Given the description of an element on the screen output the (x, y) to click on. 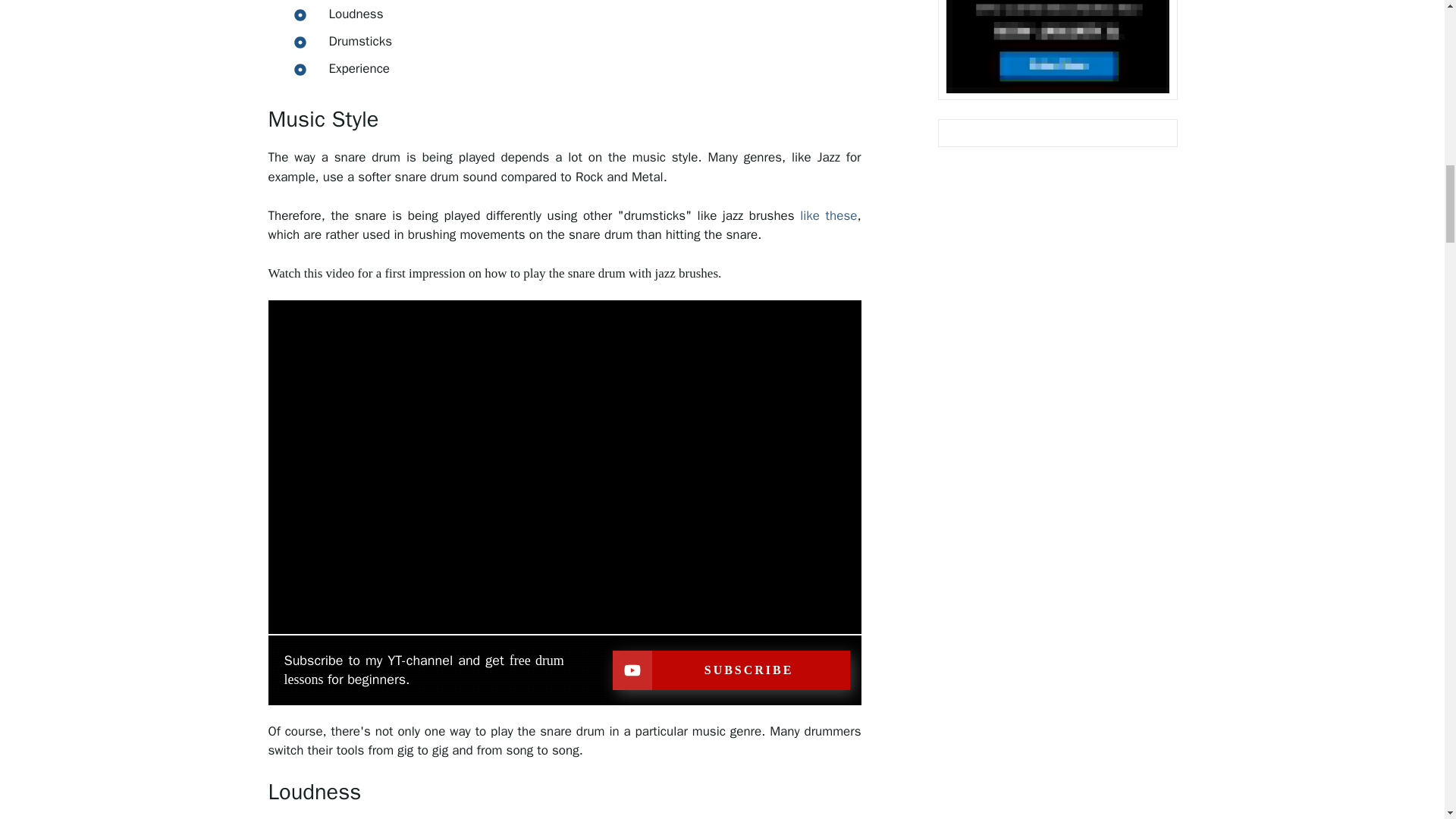
like these (828, 215)
SUBSCRIBE (731, 670)
